Given the description of an element on the screen output the (x, y) to click on. 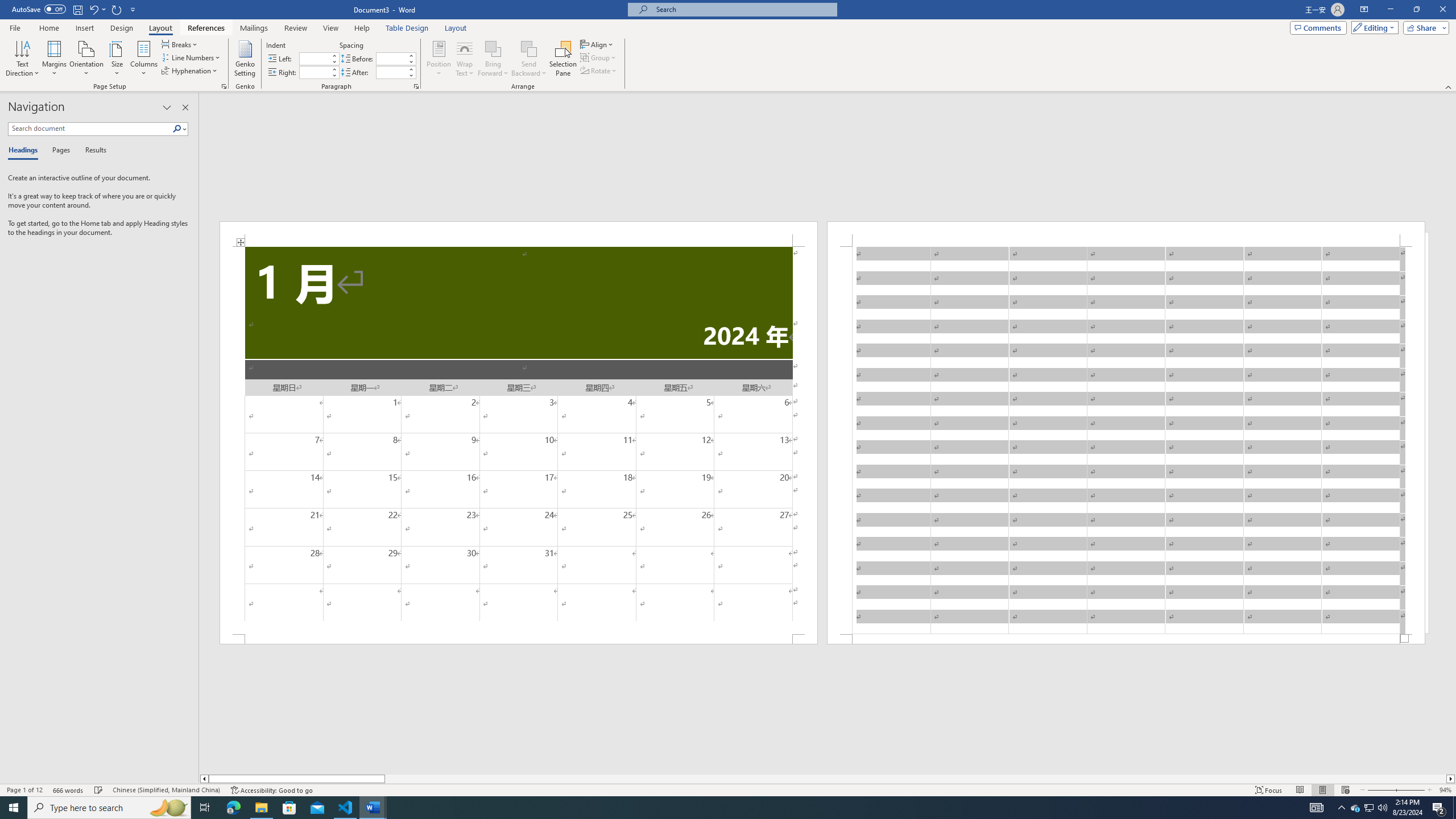
File Tab (15, 27)
Mailings (253, 28)
Page 1 content (518, 439)
Headings (25, 150)
Line Numbers (191, 56)
More Options (528, 68)
Page right (914, 778)
Word Count 666 words (68, 790)
Bring Forward (492, 48)
Spacing Before (391, 58)
Search document (89, 128)
Wrap Text (464, 58)
System (6, 6)
Home (48, 28)
Less (411, 75)
